Given the description of an element on the screen output the (x, y) to click on. 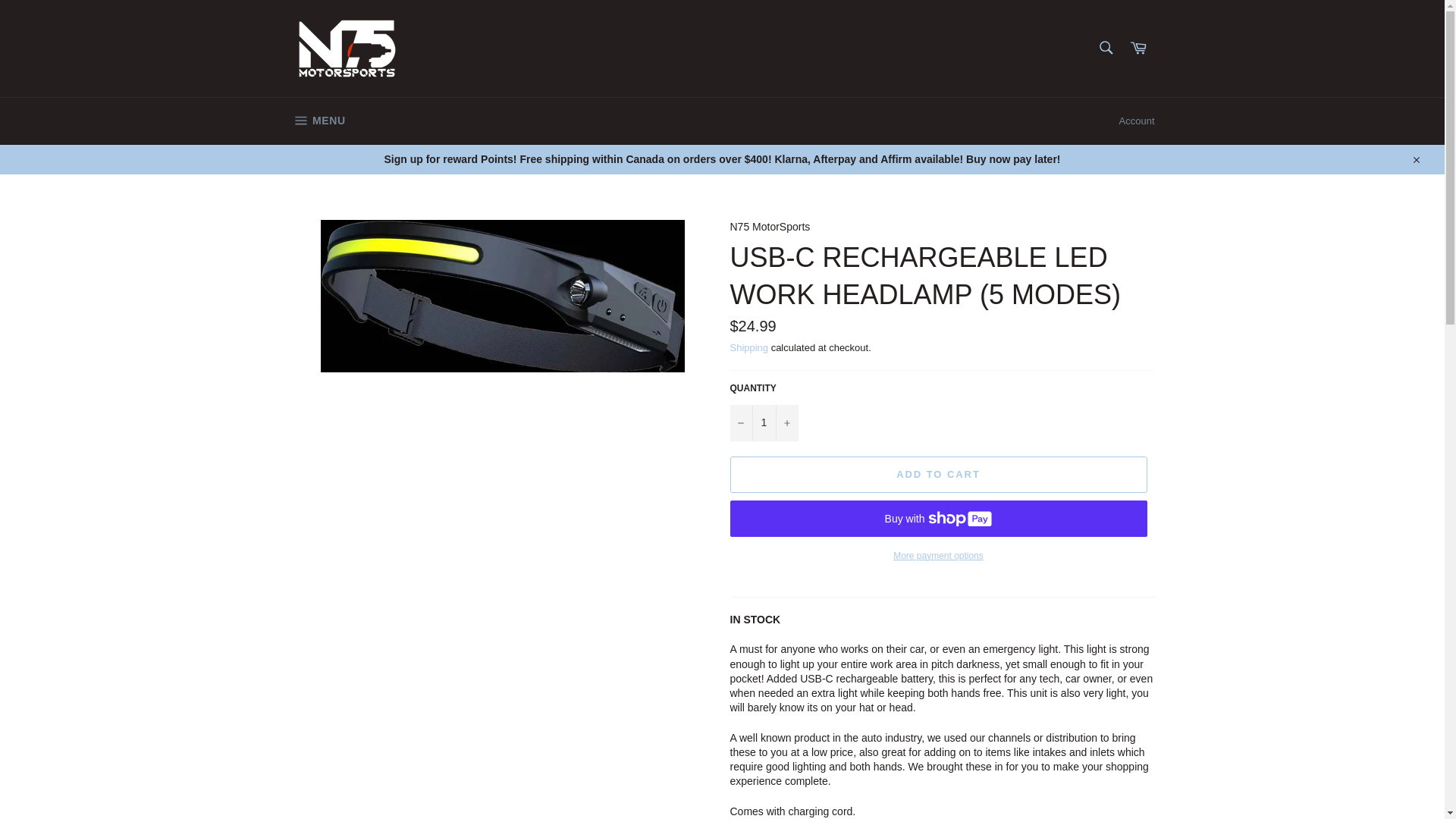
1 (763, 422)
